Given the description of an element on the screen output the (x, y) to click on. 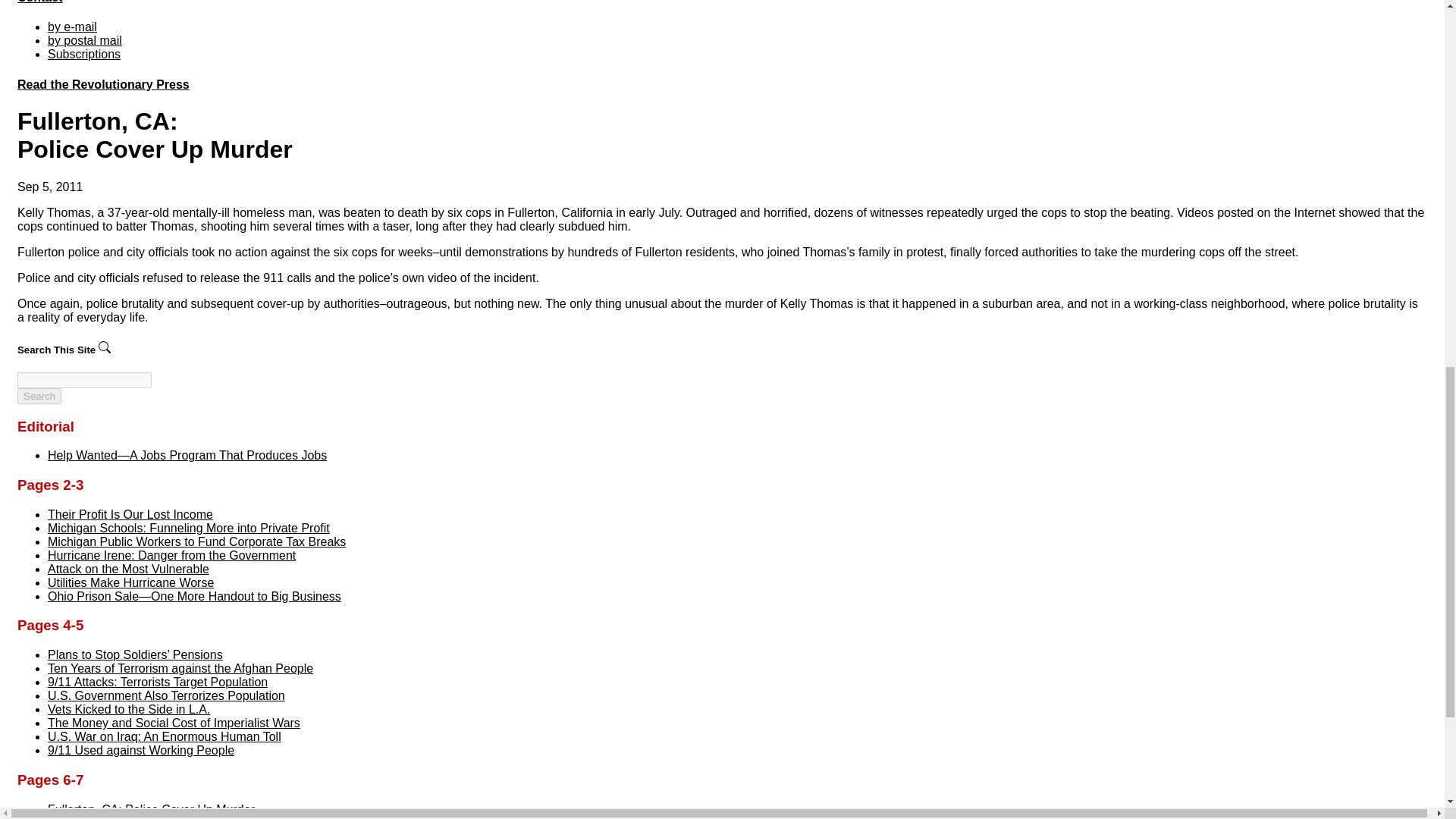
Contact (39, 2)
Attack on the Most Vulnerable (128, 568)
e-mail (72, 26)
Postal mail addresses (85, 40)
Revolutionary Publications from Other Countries (103, 83)
Michigan Schools: Funneling More into Private Profit (189, 527)
Subscription Information (84, 53)
Their Profit Is Our Lost Income (130, 513)
Hurricane Irene: Danger from the Government (171, 554)
Utilities Make Hurricane Worse (131, 582)
